Given the description of an element on the screen output the (x, y) to click on. 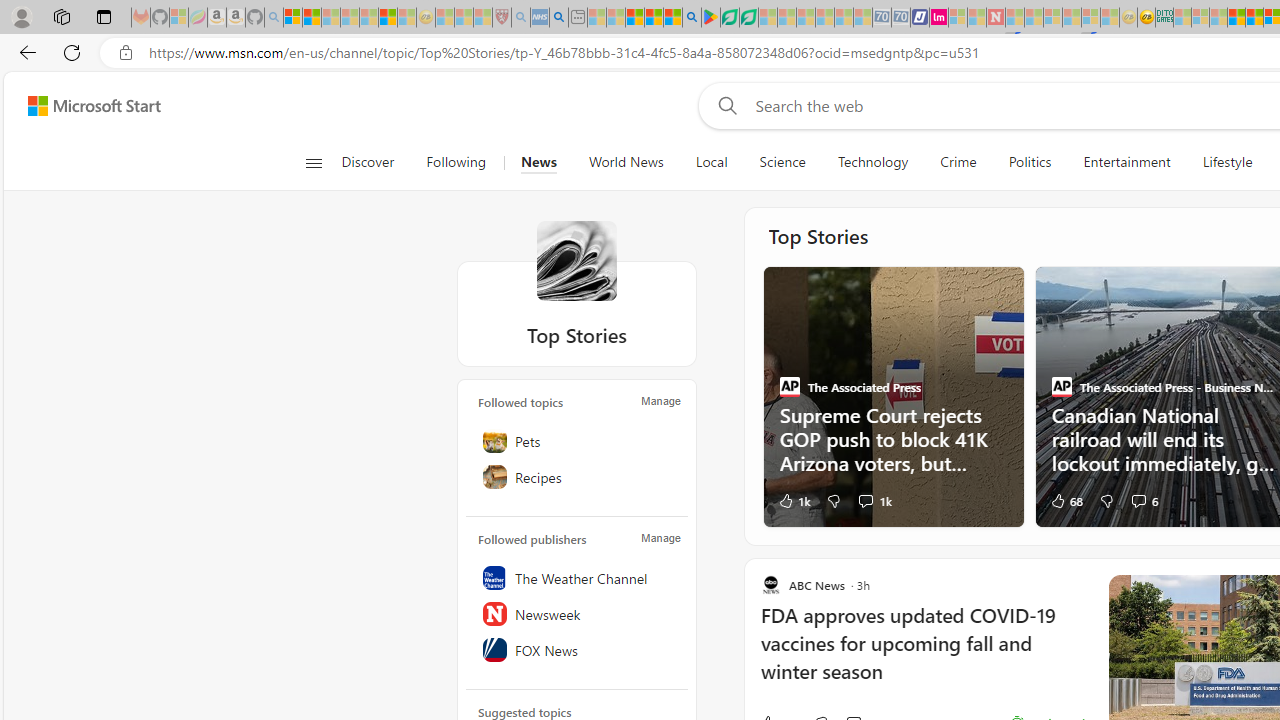
Terms of Use Agreement (729, 17)
Recipes (577, 476)
